Given the description of an element on the screen output the (x, y) to click on. 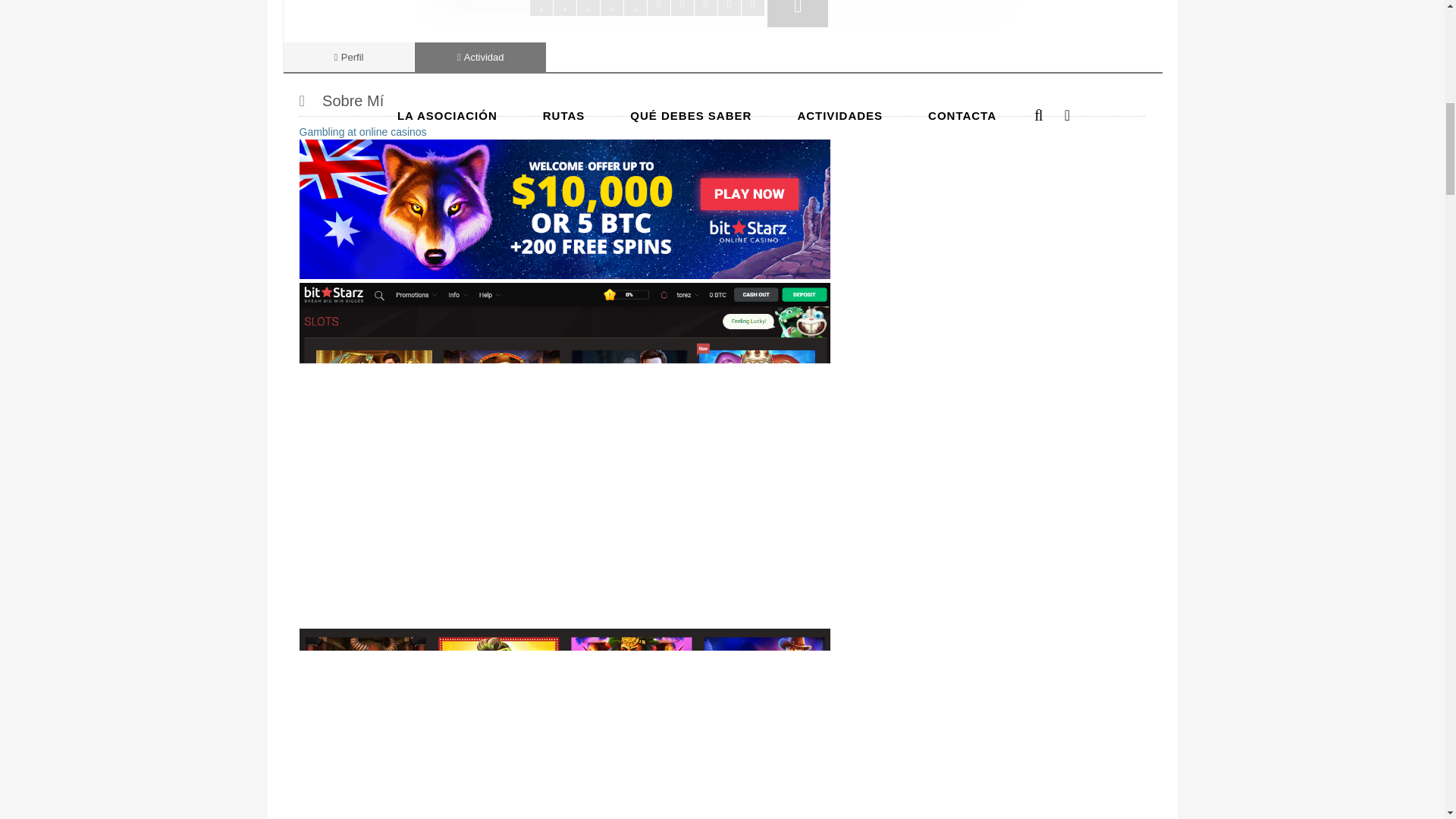
Emblema del Nivel (797, 13)
Nivel del Usuario (647, 8)
